Given the description of an element on the screen output the (x, y) to click on. 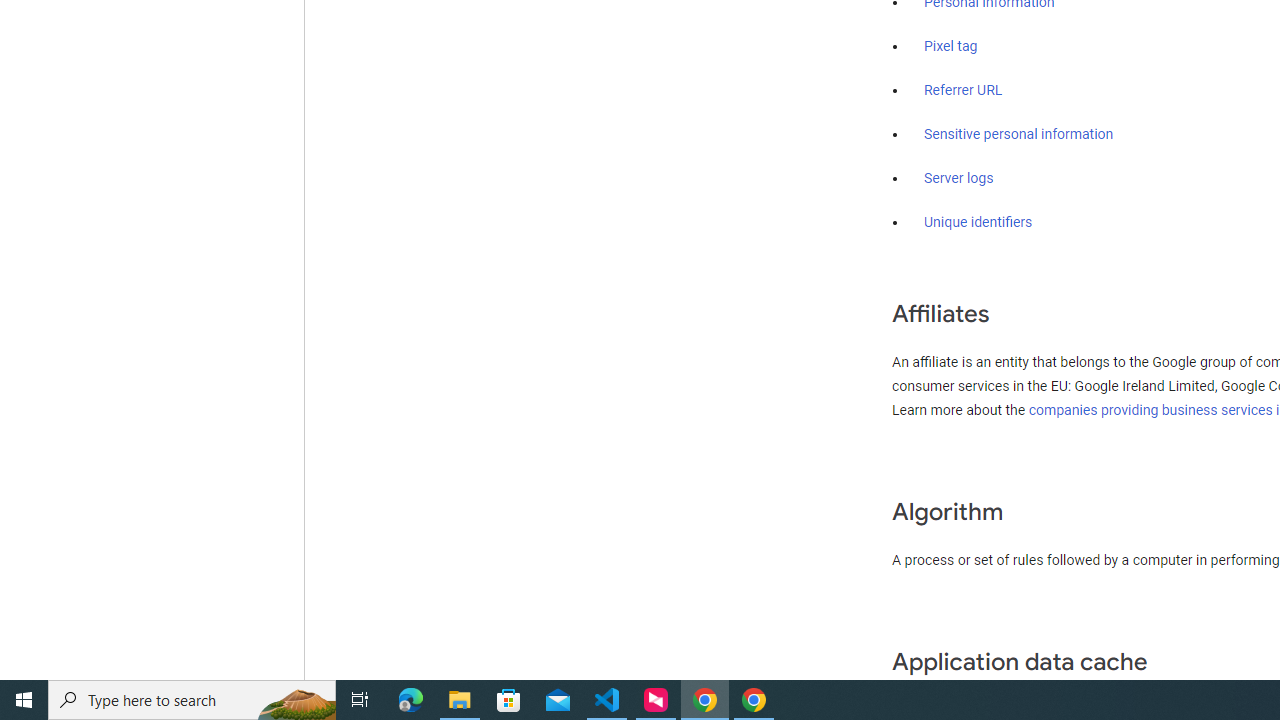
Unique identifiers (978, 222)
Sensitive personal information (1018, 134)
Pixel tag (950, 47)
Server logs (959, 178)
Referrer URL (963, 91)
